Given the description of an element on the screen output the (x, y) to click on. 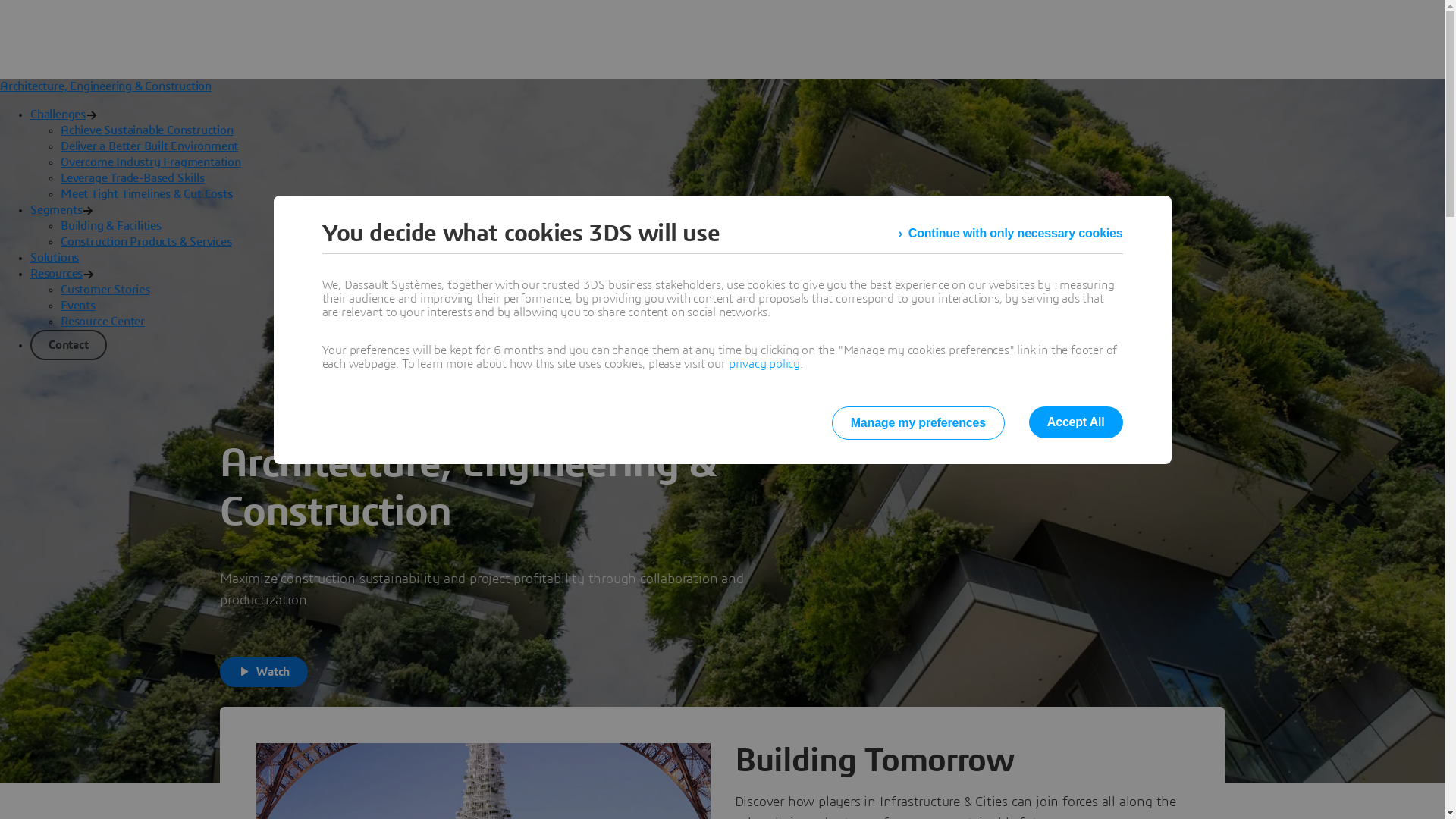
Continue with only necessary cookies Element type: text (1010, 233)
Deliver a Better Built Environment Element type: text (149, 146)
Segments Element type: text (55, 209)
Construction Products & Services Element type: text (146, 241)
Architecture, Engineering & Construction Element type: text (105, 86)
Challenges Element type: text (57, 114)
Accept All Element type: text (1076, 422)
privacy policy Element type: text (764, 363)
Resource Center Element type: text (102, 321)
Achieve Sustainable Construction Element type: text (146, 130)
Resources Element type: text (56, 273)
Customer Stories Element type: text (105, 289)
Leverage Trade-Based Skills Element type: text (132, 178)
Meet Tight Timelines & Cut Costs Element type: text (146, 194)
Manage my preferences Element type: text (917, 422)
Watch Element type: text (263, 671)
Building & Facilities Element type: text (110, 225)
Overcome Industry Fragmentation Element type: text (150, 162)
Events Element type: text (77, 305)
Contact Element type: text (68, 344)
Solutions Element type: text (54, 257)
